Given the description of an element on the screen output the (x, y) to click on. 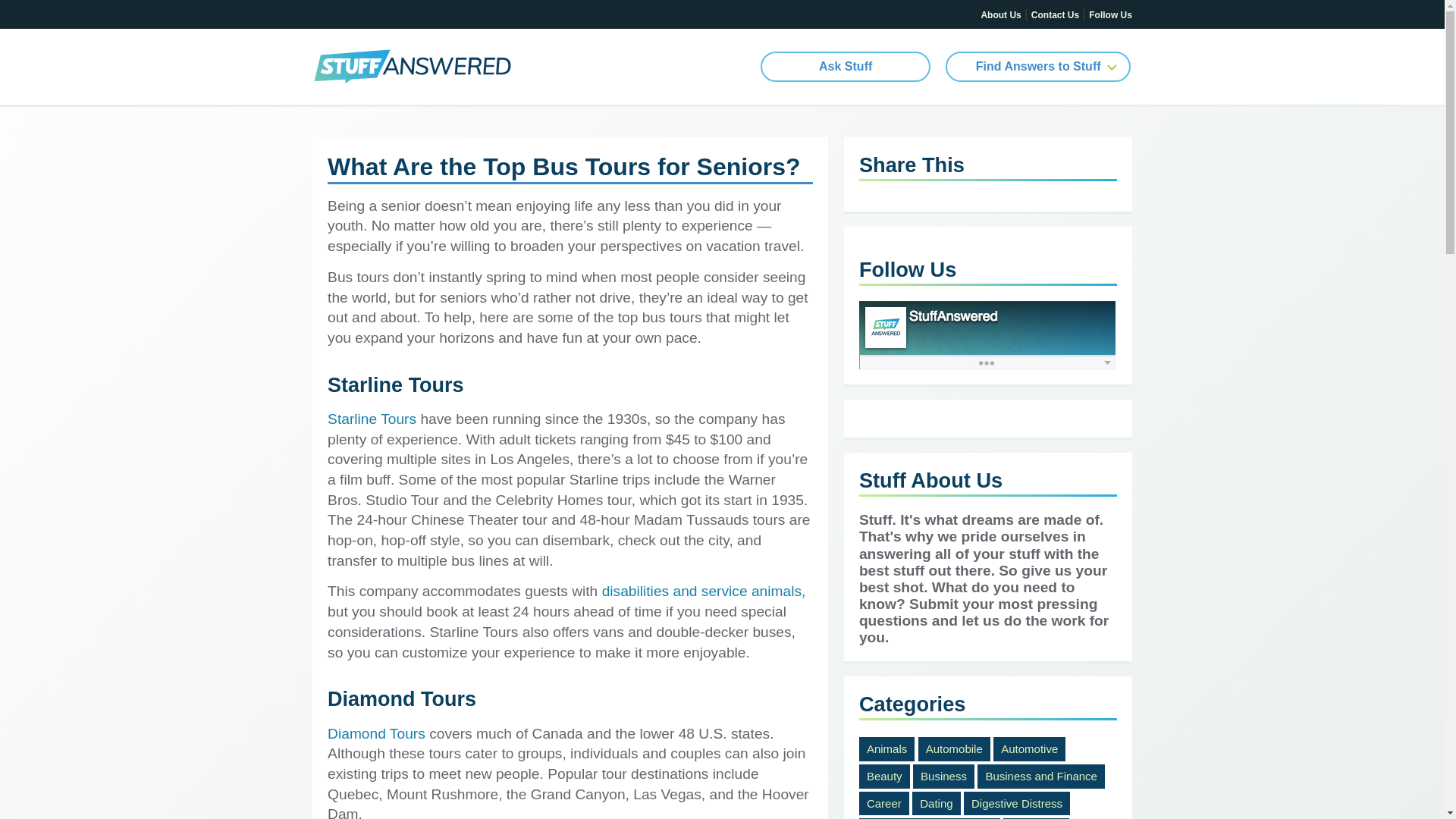
Career (883, 803)
Find Answers to Stuff (1037, 66)
Follow Us (1110, 14)
Education (1035, 818)
Animals (886, 749)
Ask Stuff (845, 66)
Starline Tours (371, 418)
Beauty (884, 776)
Digestive Distress (1016, 803)
Business and Finance (1040, 776)
disabilities and service animals (702, 590)
Business (943, 776)
Diamond Tours (376, 733)
Contact Us (1054, 14)
Automotive (1028, 749)
